Given the description of an element on the screen output the (x, y) to click on. 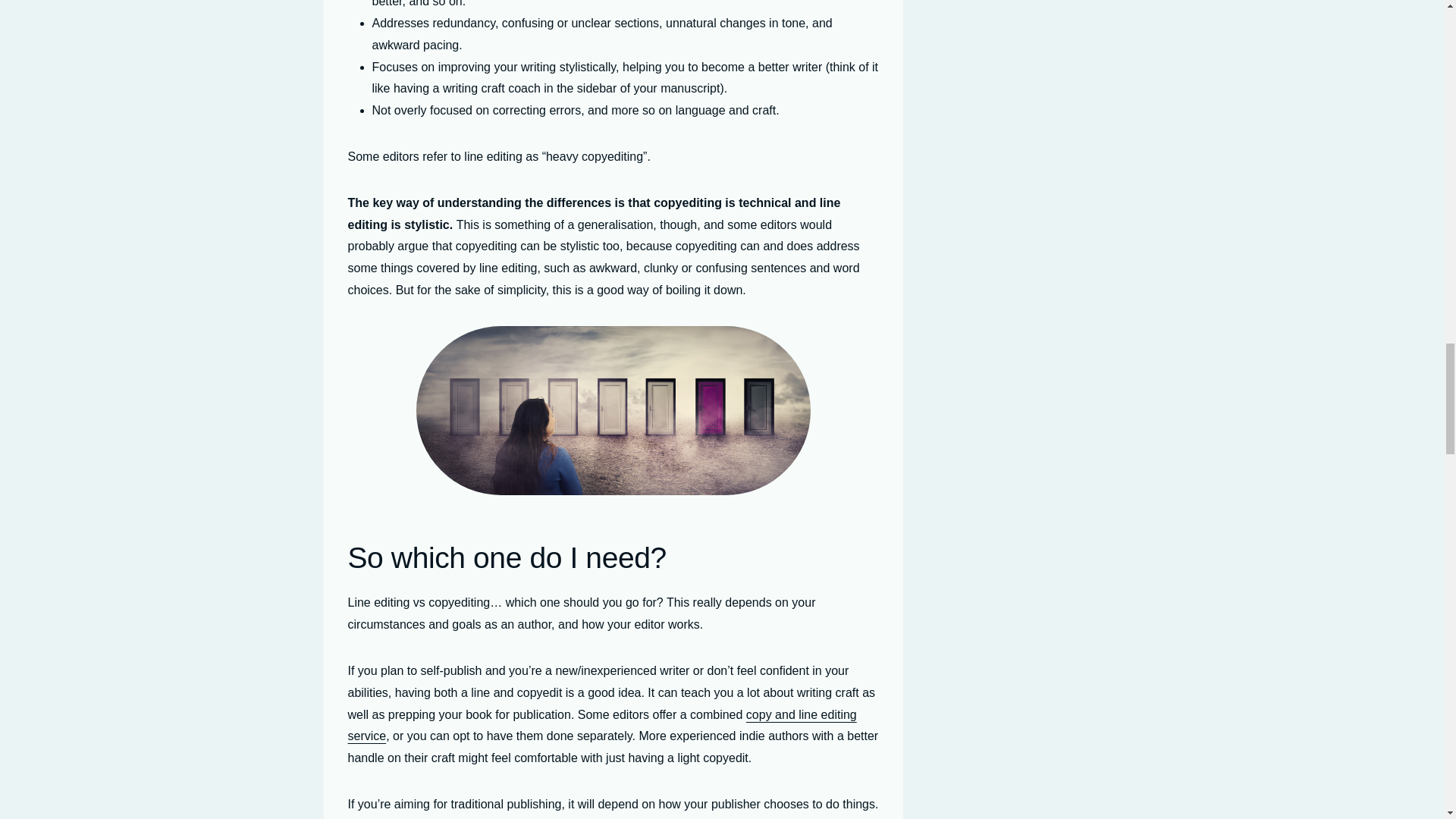
copy and line editing service (601, 725)
